Given the description of an element on the screen output the (x, y) to click on. 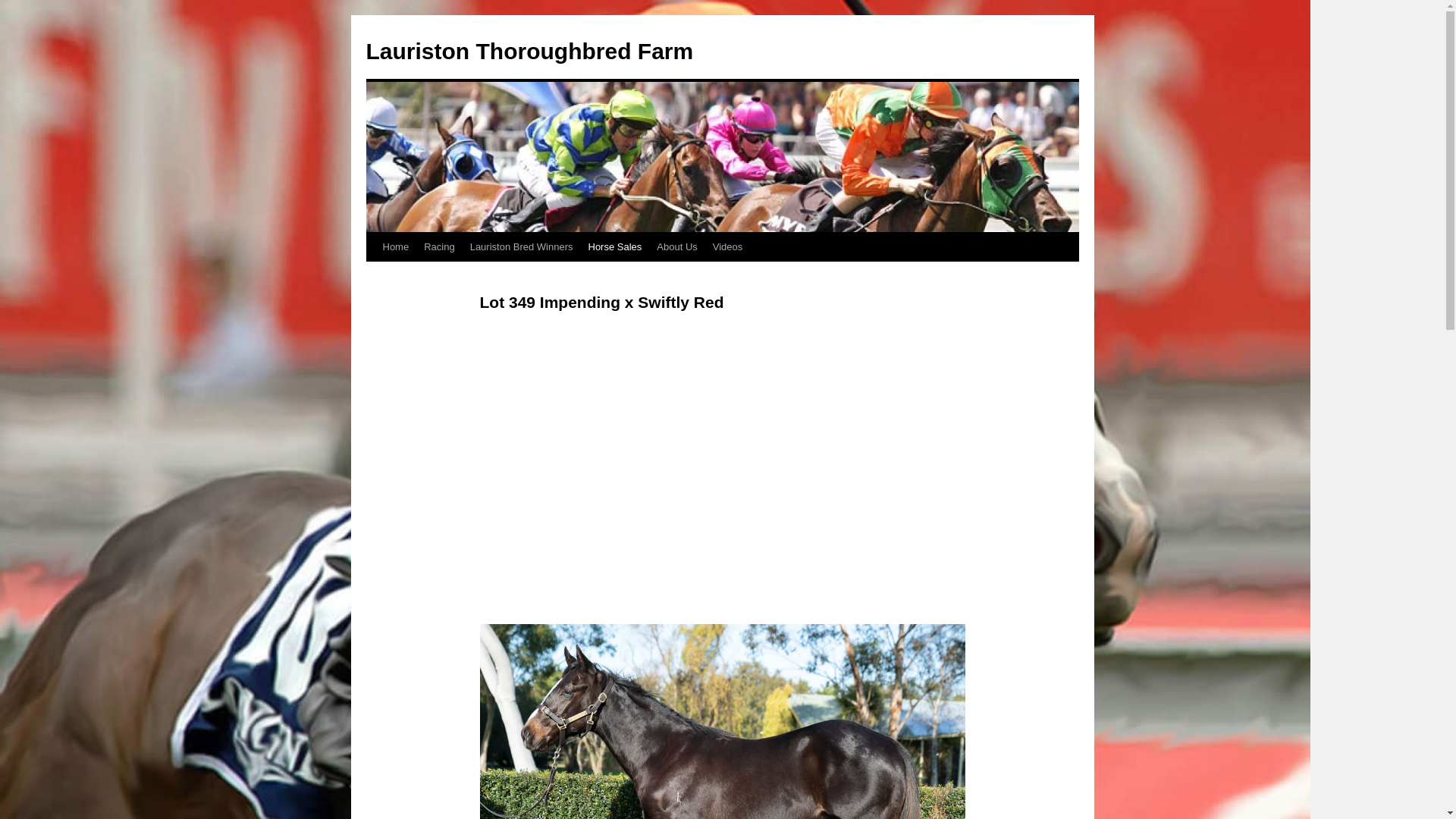
About Us Element type: text (676, 246)
Lauriston Thoroughbred Farm Element type: text (529, 50)
Horse Sales Element type: text (614, 246)
Skip to content Element type: text (372, 275)
Racing Element type: text (438, 246)
Home Element type: text (395, 246)
Lot-349 Impending x Swiftly Red colt Element type: hover (721, 469)
Videos Element type: text (727, 246)
Lauriston Bred Winners Element type: text (521, 246)
